Given the description of an element on the screen output the (x, y) to click on. 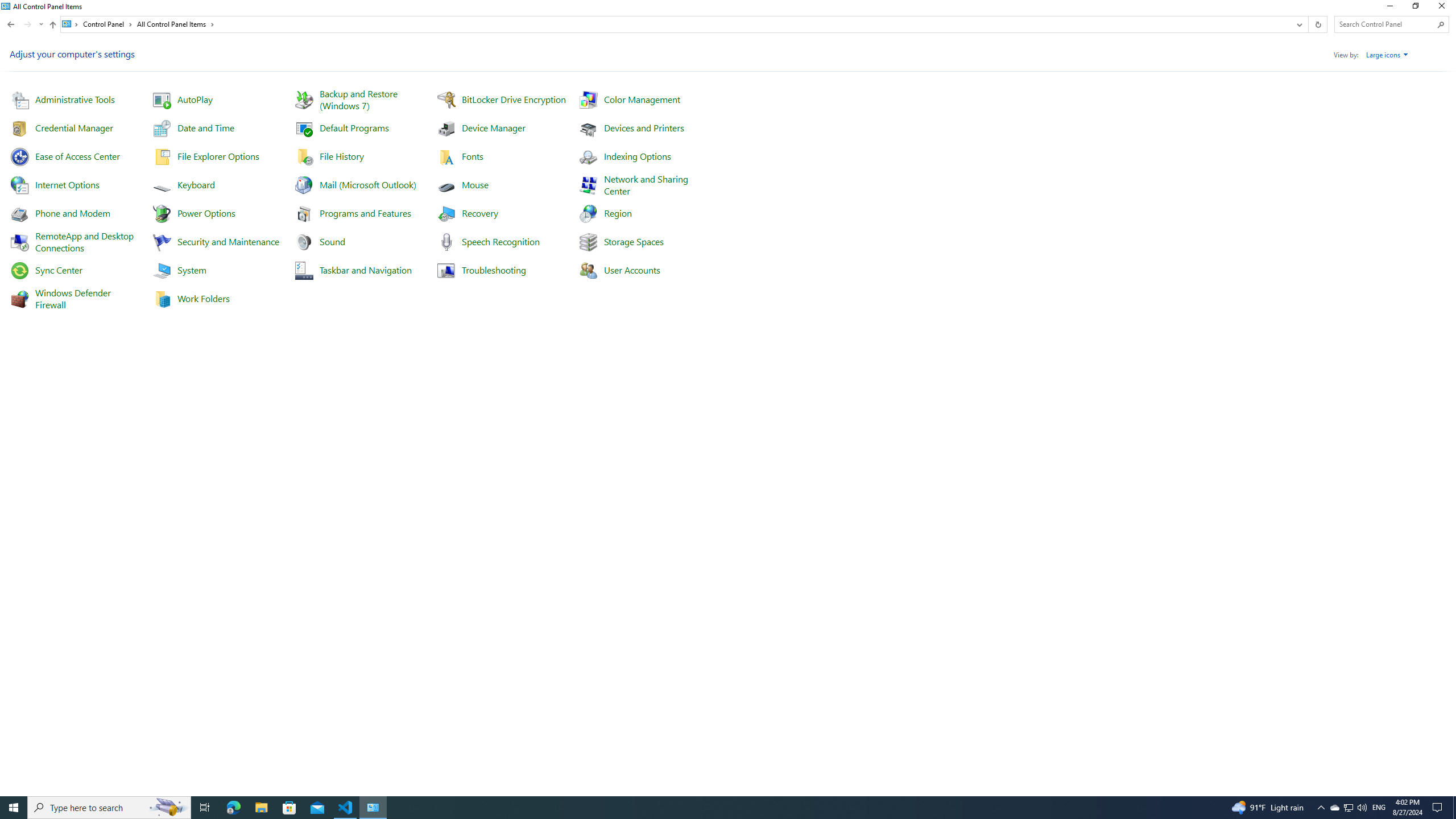
Up band toolbar (52, 26)
Search (1441, 24)
BitLocker Drive Encryption (513, 98)
Keyboard (195, 184)
Work Folders (203, 298)
Taskbar and Navigation (365, 269)
Mail (Microsoft Outlook) (367, 184)
Internet Options (66, 184)
Devices and Printers (643, 127)
Control Panel (107, 23)
Running applications (706, 807)
User Accounts (631, 269)
